Given the description of an element on the screen output the (x, y) to click on. 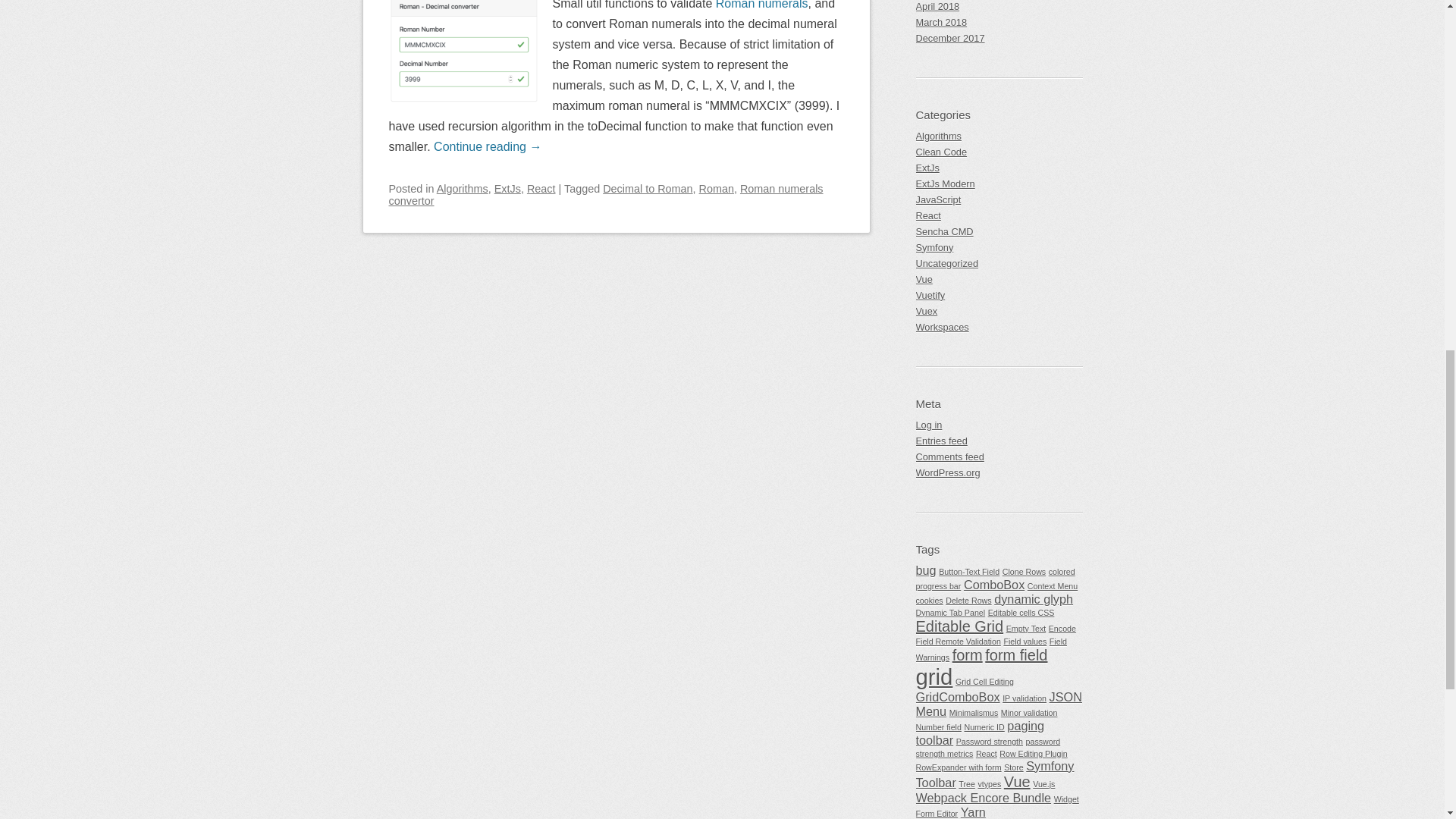
React (541, 187)
Roman (715, 187)
ExtJs (508, 187)
Decimal to Roman (647, 187)
Roman numerals (762, 4)
Roman numerals convertor (605, 193)
Algorithms (461, 187)
